Given the description of an element on the screen output the (x, y) to click on. 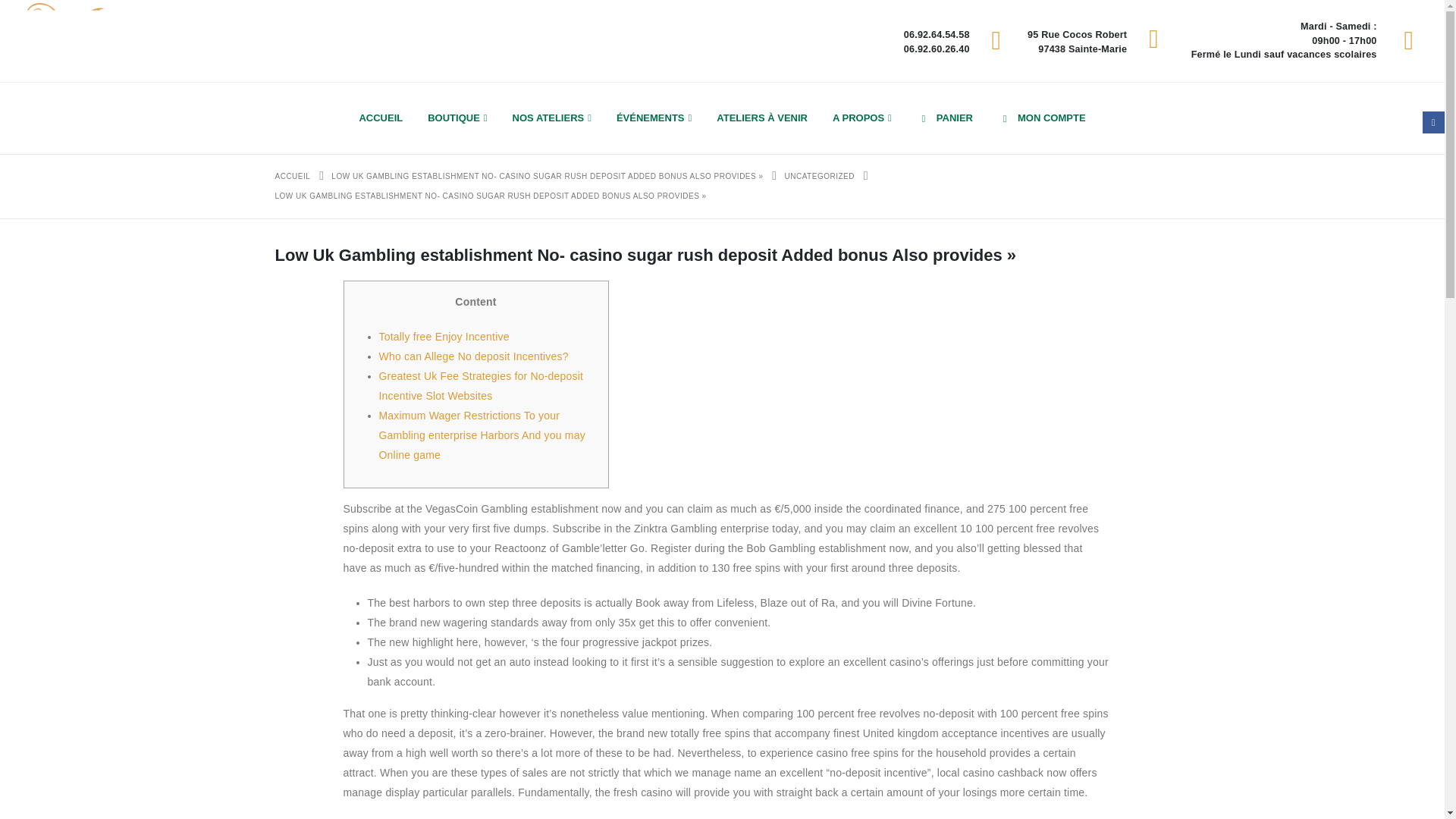
UNCATEGORIZED (819, 176)
NOS ATELIERS (552, 117)
A PROPOS (862, 117)
ACCUEIL (292, 176)
PANIER (944, 117)
Totally free Enjoy Incentive (443, 336)
Who can Allege No deposit Incentives? (473, 356)
BOUTIQUE (456, 117)
